Given the description of an element on the screen output the (x, y) to click on. 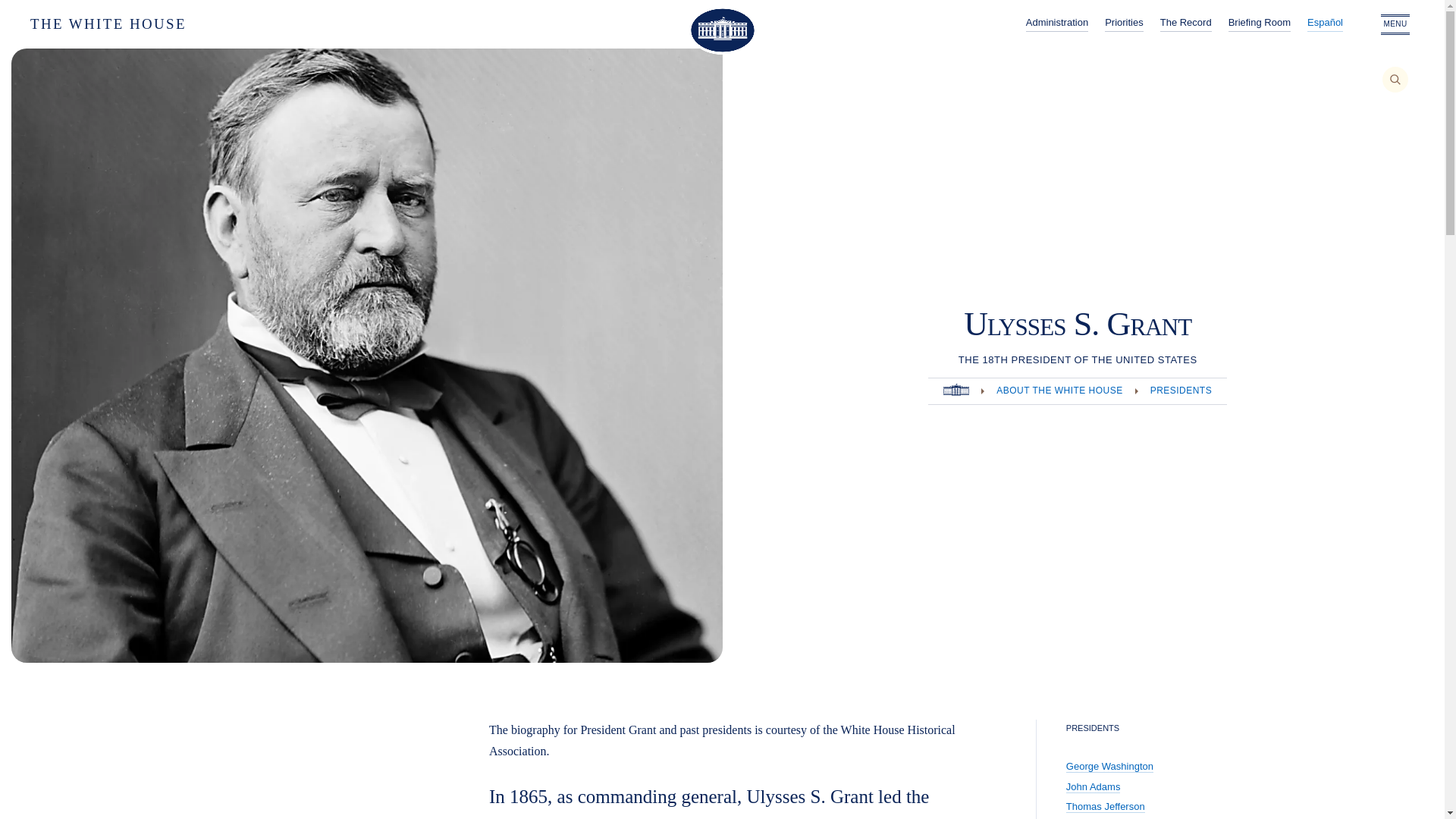
The Record (1185, 23)
Priorities (1123, 23)
MENU (1394, 24)
Administration (1056, 23)
Home (956, 391)
THE WHITE HOUSE (161, 24)
Briefing Room (1259, 23)
